Given the description of an element on the screen output the (x, y) to click on. 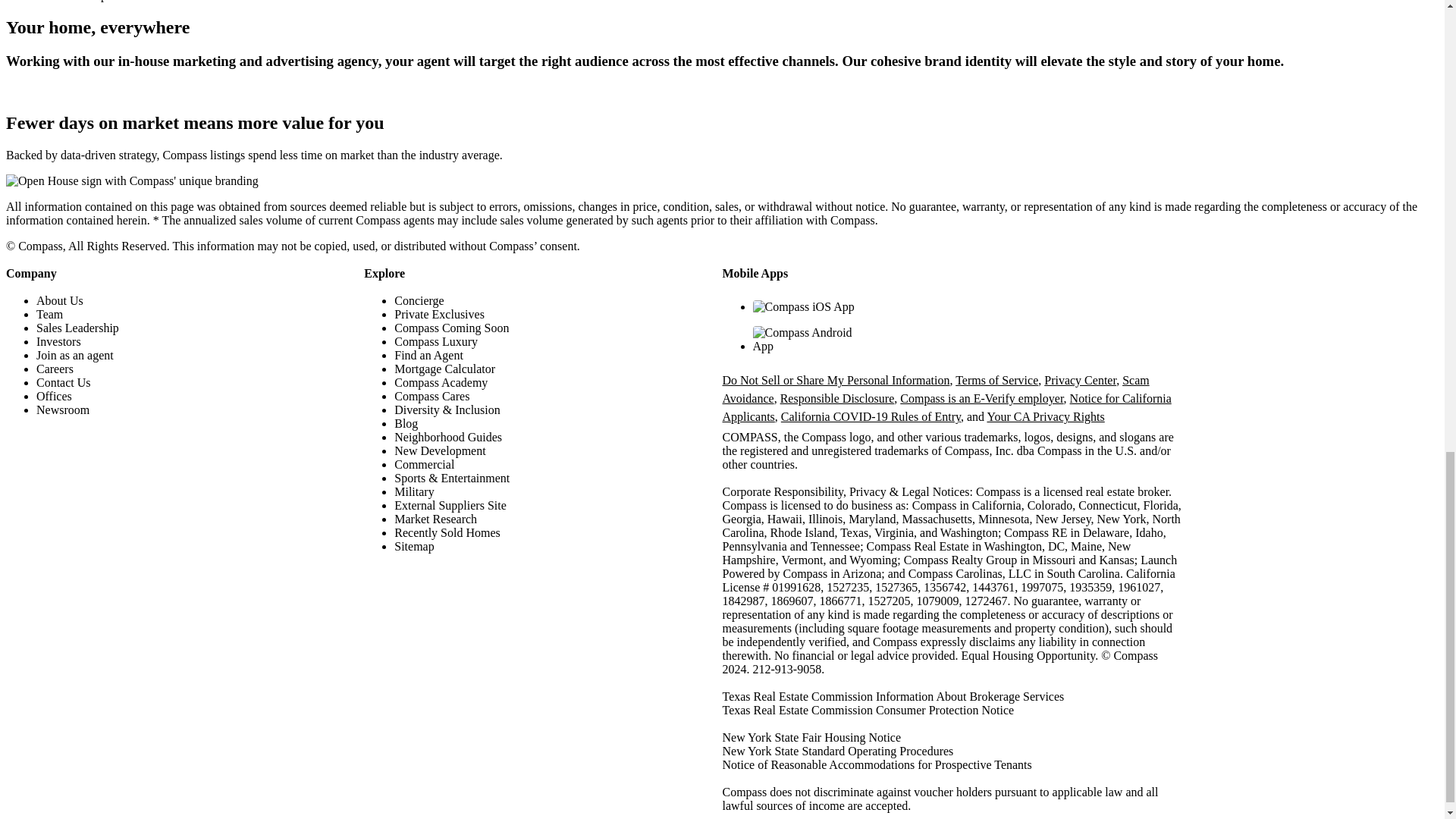
Newsroom (62, 409)
Concierge (419, 300)
Sales Leadership (77, 327)
About Us (59, 300)
Investors (58, 341)
Compass Coming Soon (451, 327)
Team (49, 314)
Mortgage Calculator (444, 368)
Offices (53, 395)
Private Exclusives (439, 314)
Join as an agent (74, 354)
Find an Agent (428, 354)
Contact Us (63, 382)
Careers (55, 368)
Compass Luxury (435, 341)
